Given the description of an element on the screen output the (x, y) to click on. 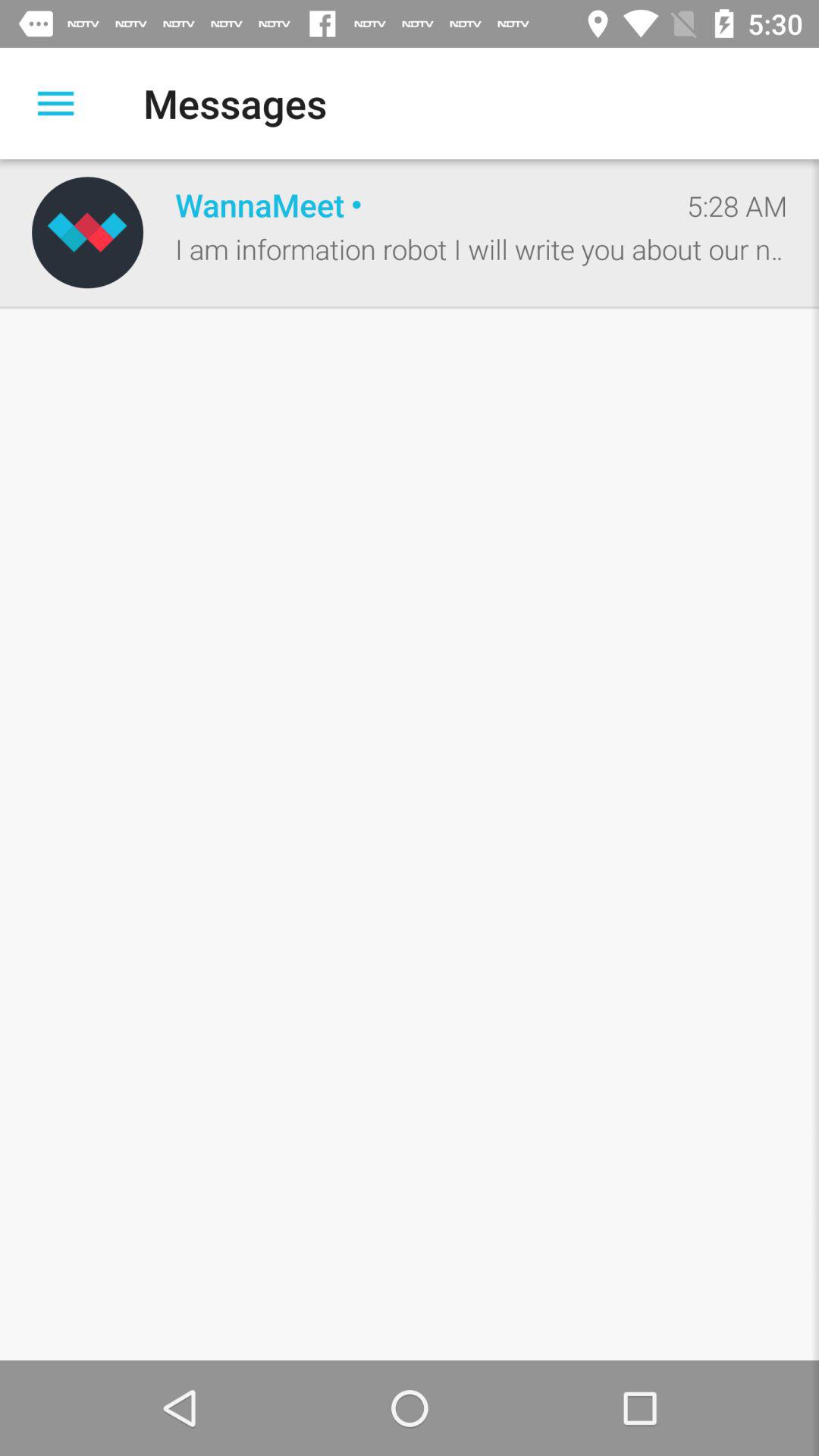
launch icon next to the wannameet   icon (737, 205)
